Given the description of an element on the screen output the (x, y) to click on. 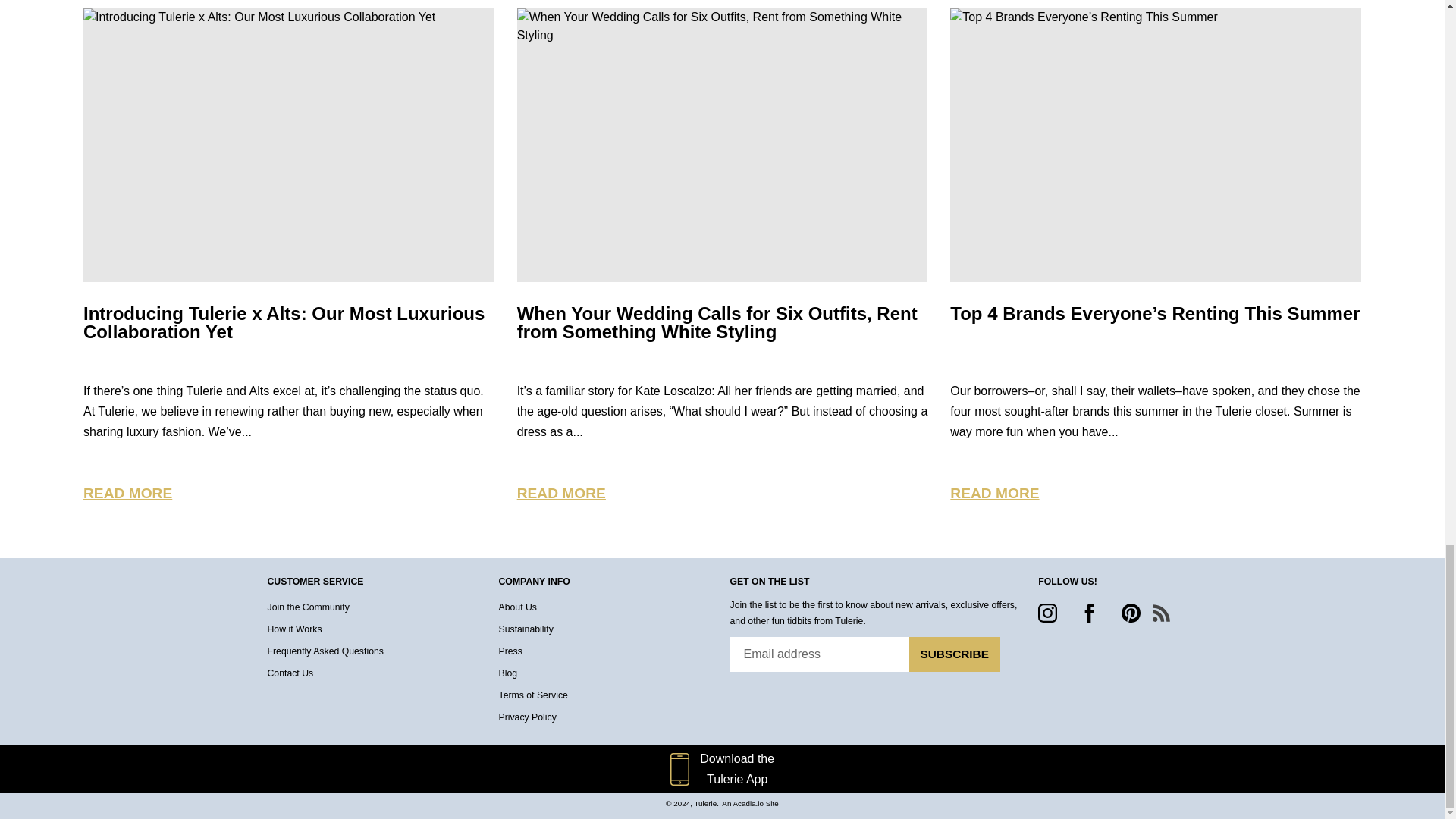
Sustainability (526, 629)
Join the Community (307, 606)
READ MORE (560, 493)
READ MORE (126, 493)
Frequently Asked Questions (324, 651)
READ MORE (994, 493)
About Us (518, 606)
How it Works (293, 629)
Contact Us (289, 673)
